Given the description of an element on the screen output the (x, y) to click on. 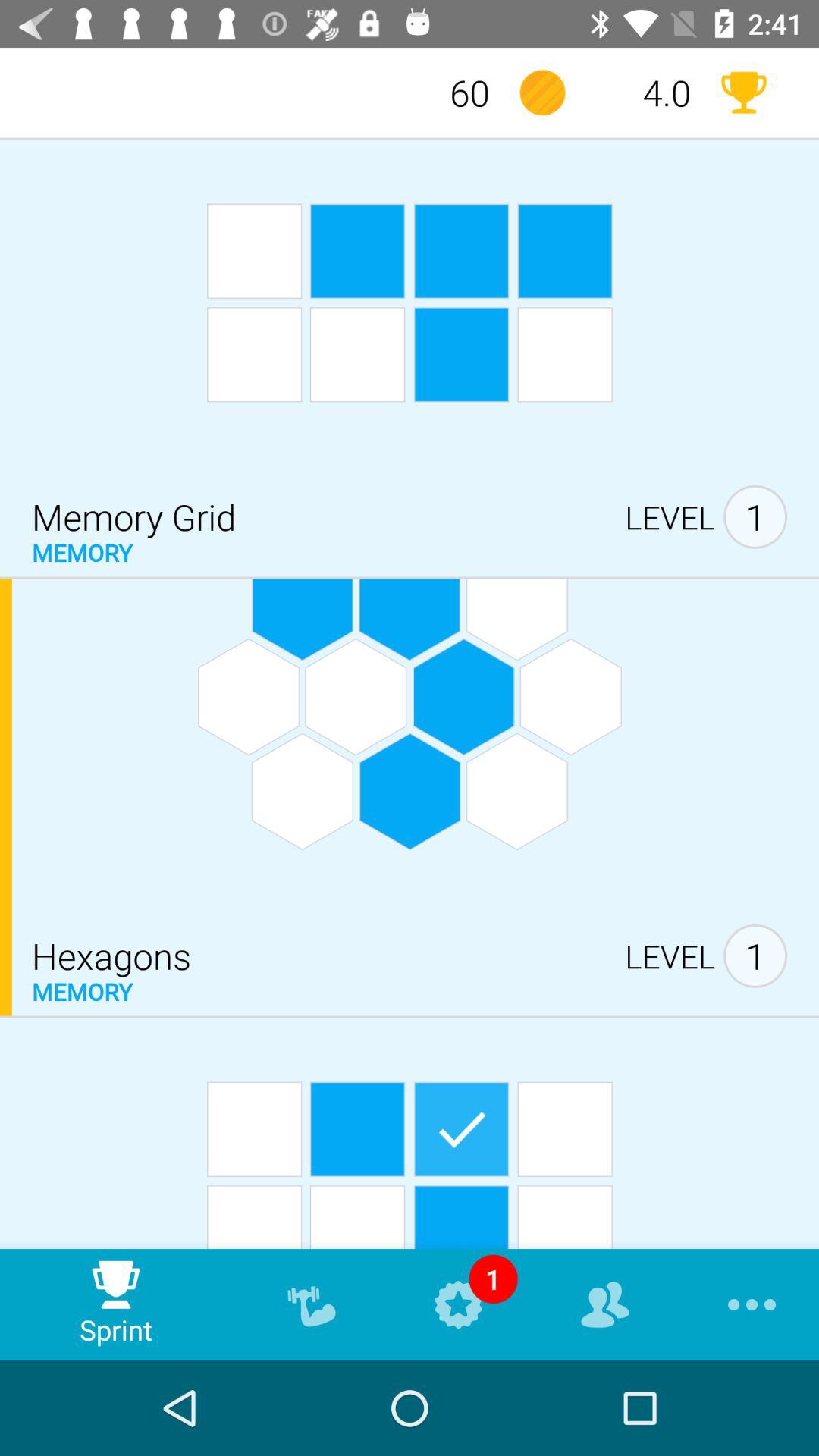
choose icon to the right of 60 item (542, 92)
